Given the description of an element on the screen output the (x, y) to click on. 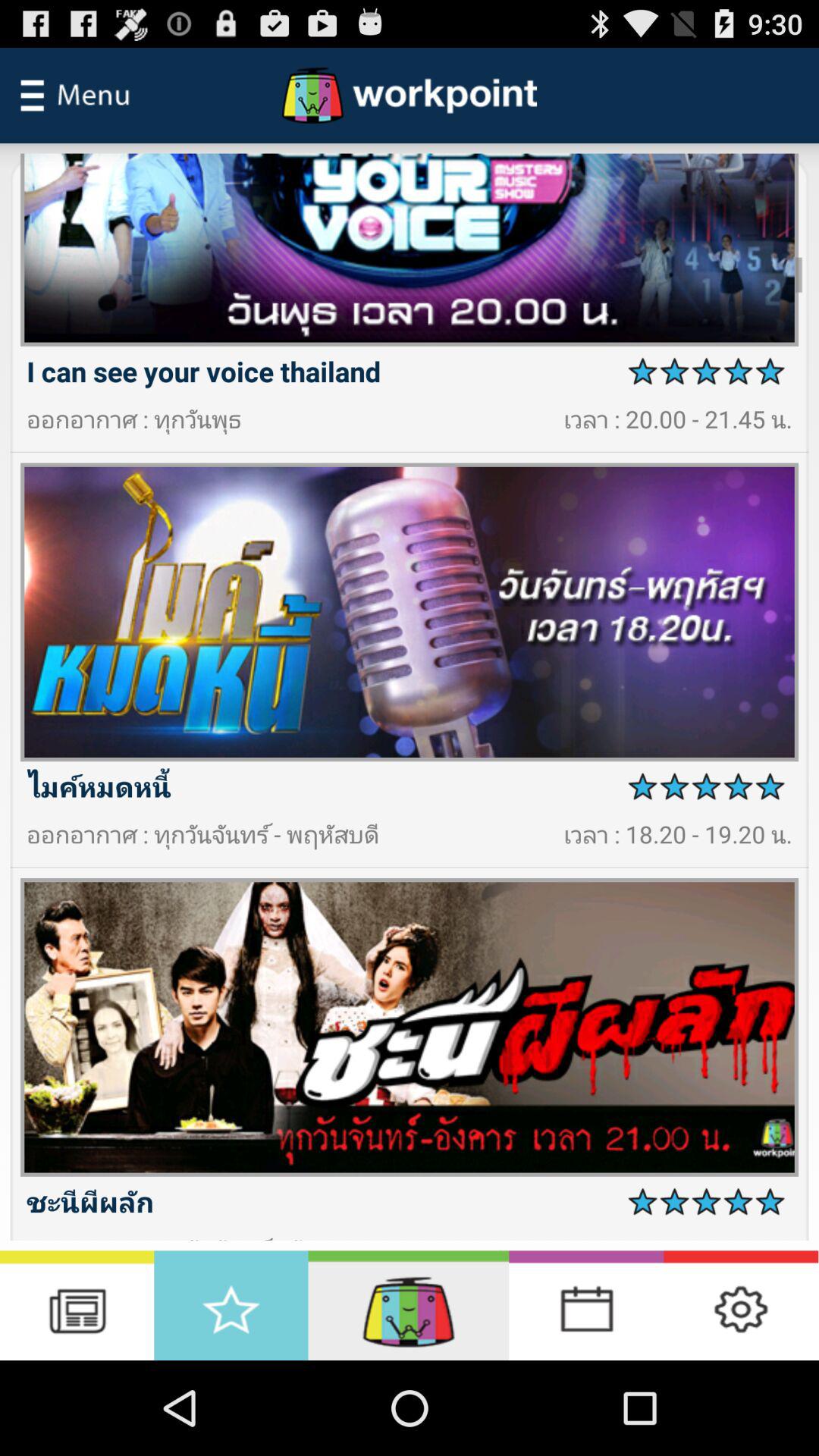
open tv schedule (77, 1305)
